Given the description of an element on the screen output the (x, y) to click on. 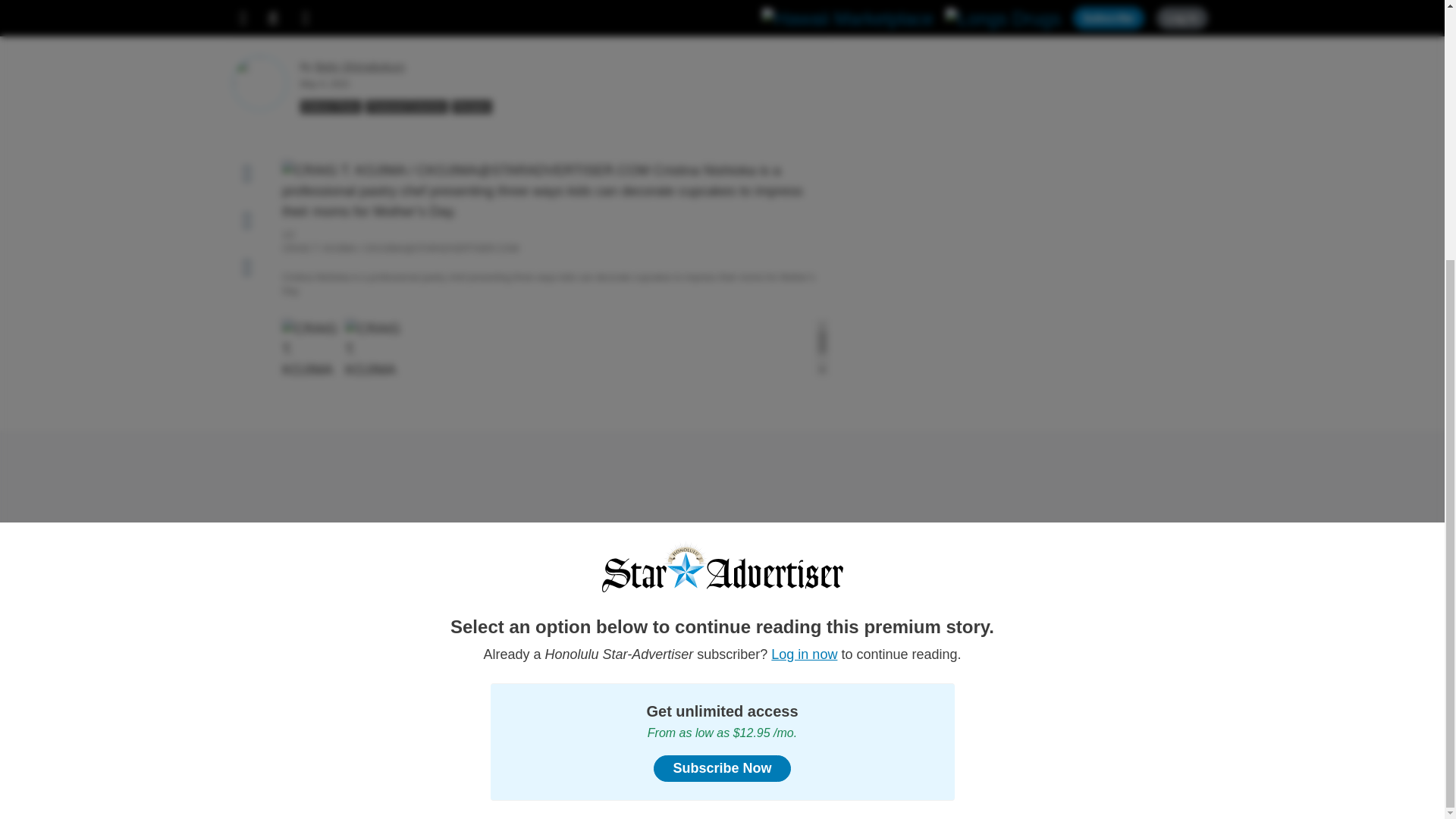
See more stories by Betty Shimabukuro (359, 66)
Facebook (235, 719)
The Honolulu Star-Advertiser (722, 193)
Share this story (247, 172)
Honolulu Star-Advertiser (722, 194)
Comment on this story (247, 220)
Print this story (247, 267)
